Given the description of an element on the screen output the (x, y) to click on. 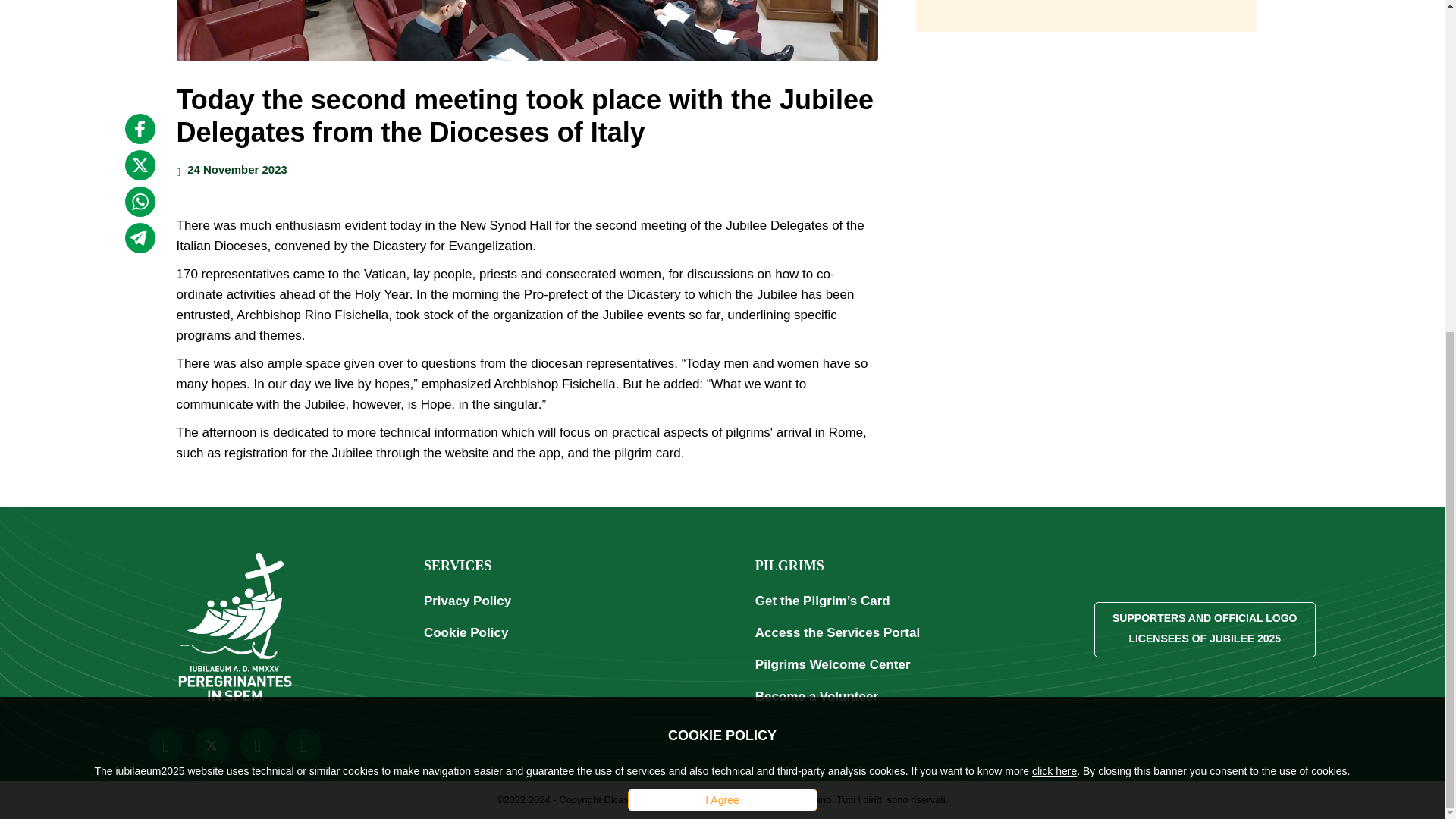
whatsapp (138, 171)
twitter (138, 134)
telegram (138, 207)
facebook (138, 98)
